Given the description of an element on the screen output the (x, y) to click on. 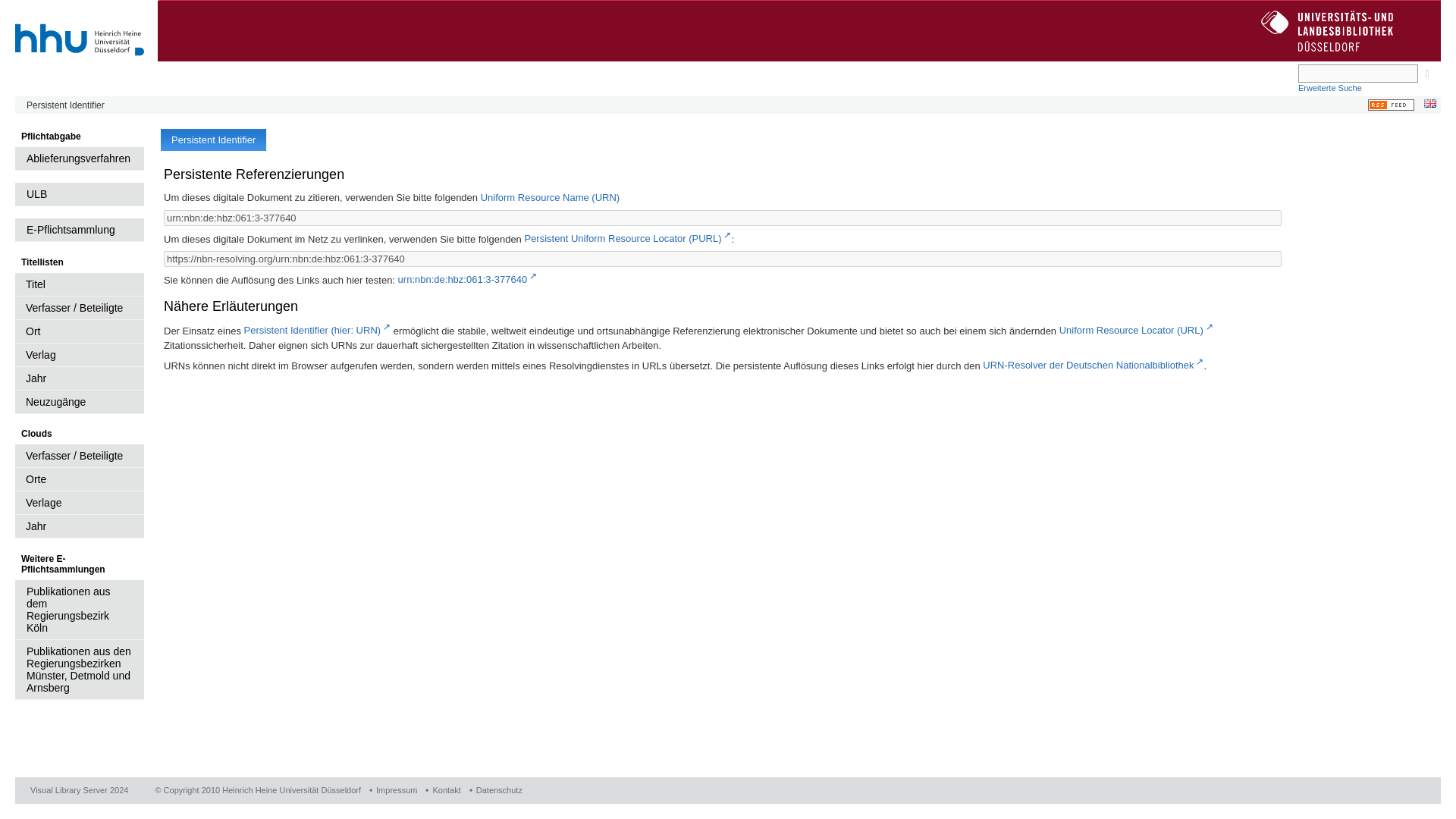
E-Pflichtsammlung (79, 229)
Jahr (79, 526)
Impressum (392, 789)
Orte (79, 479)
urn:nbn:de:hbz:061:3-377640 (467, 279)
Verlage (79, 503)
Datenschutz (495, 789)
Ablieferungsverfahren (79, 158)
URN-Resolver der Deutschen Nationalbibliothek (1093, 365)
Erweiterte Suche (1332, 87)
urn:nbn:de:hbz:061:3-377640 (722, 217)
Titel (79, 284)
Jahr (79, 378)
Verlag (79, 354)
ULB (79, 194)
